Given the description of an element on the screen output the (x, y) to click on. 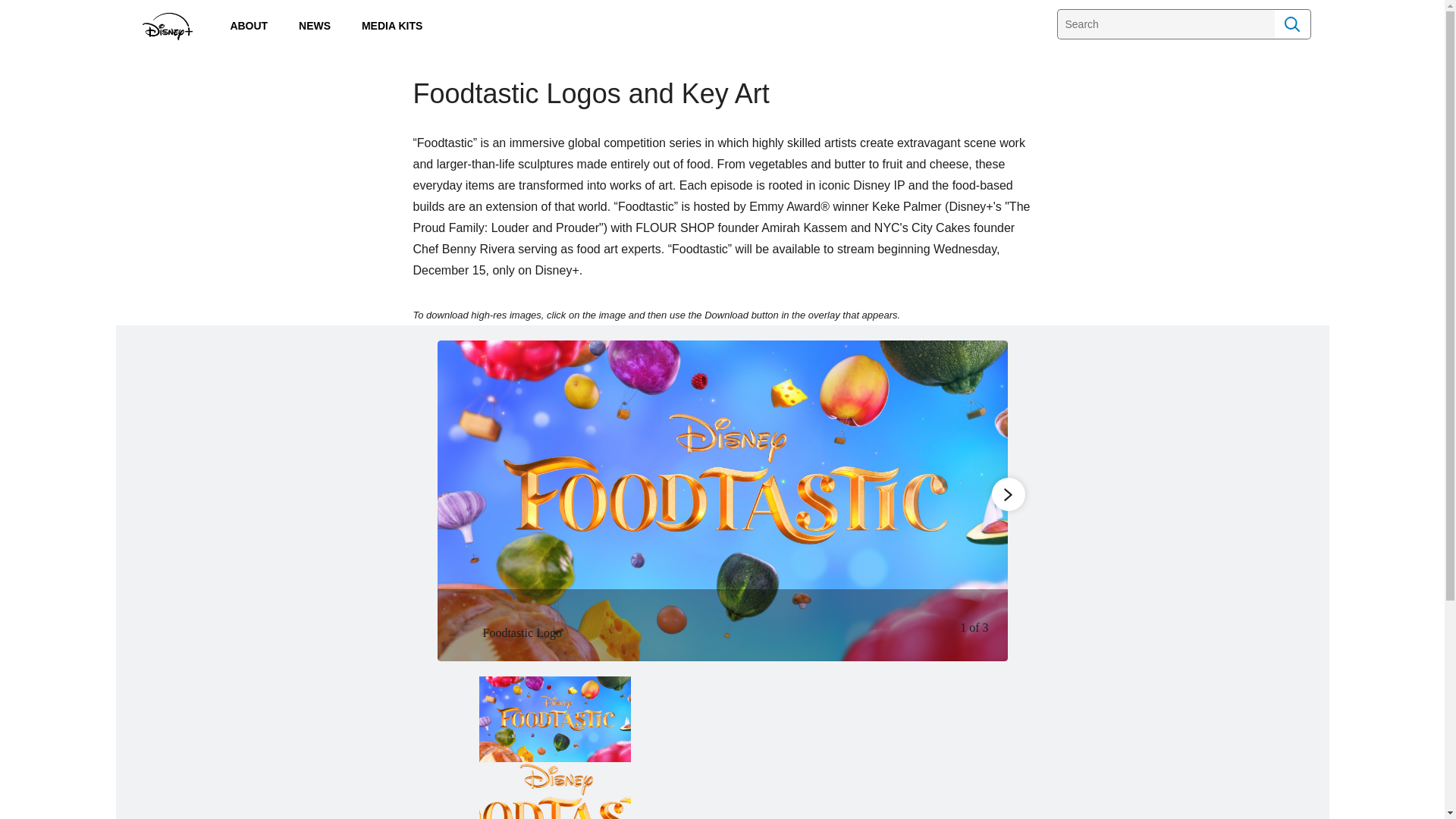
Search (1292, 24)
NEWS (314, 25)
ABOUT (248, 25)
MEDIA KITS (391, 25)
